Given the description of an element on the screen output the (x, y) to click on. 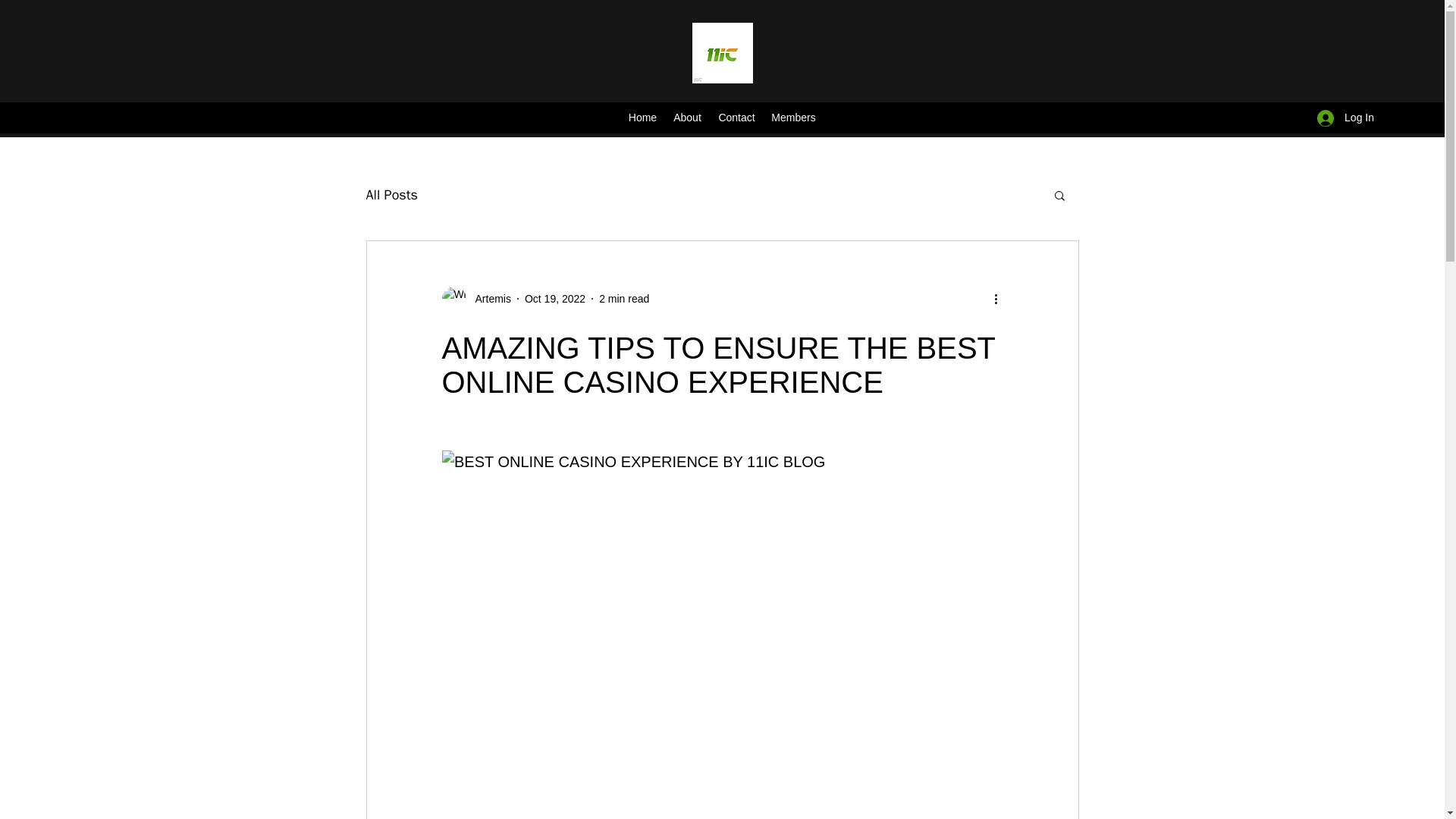
Members (793, 117)
About (686, 117)
All Posts (390, 194)
Artemis (476, 298)
Contact (736, 117)
Oct 19, 2022 (554, 298)
Home (641, 117)
Log In (1345, 117)
Artemis  (488, 299)
2 min read (623, 298)
